Given the description of an element on the screen output the (x, y) to click on. 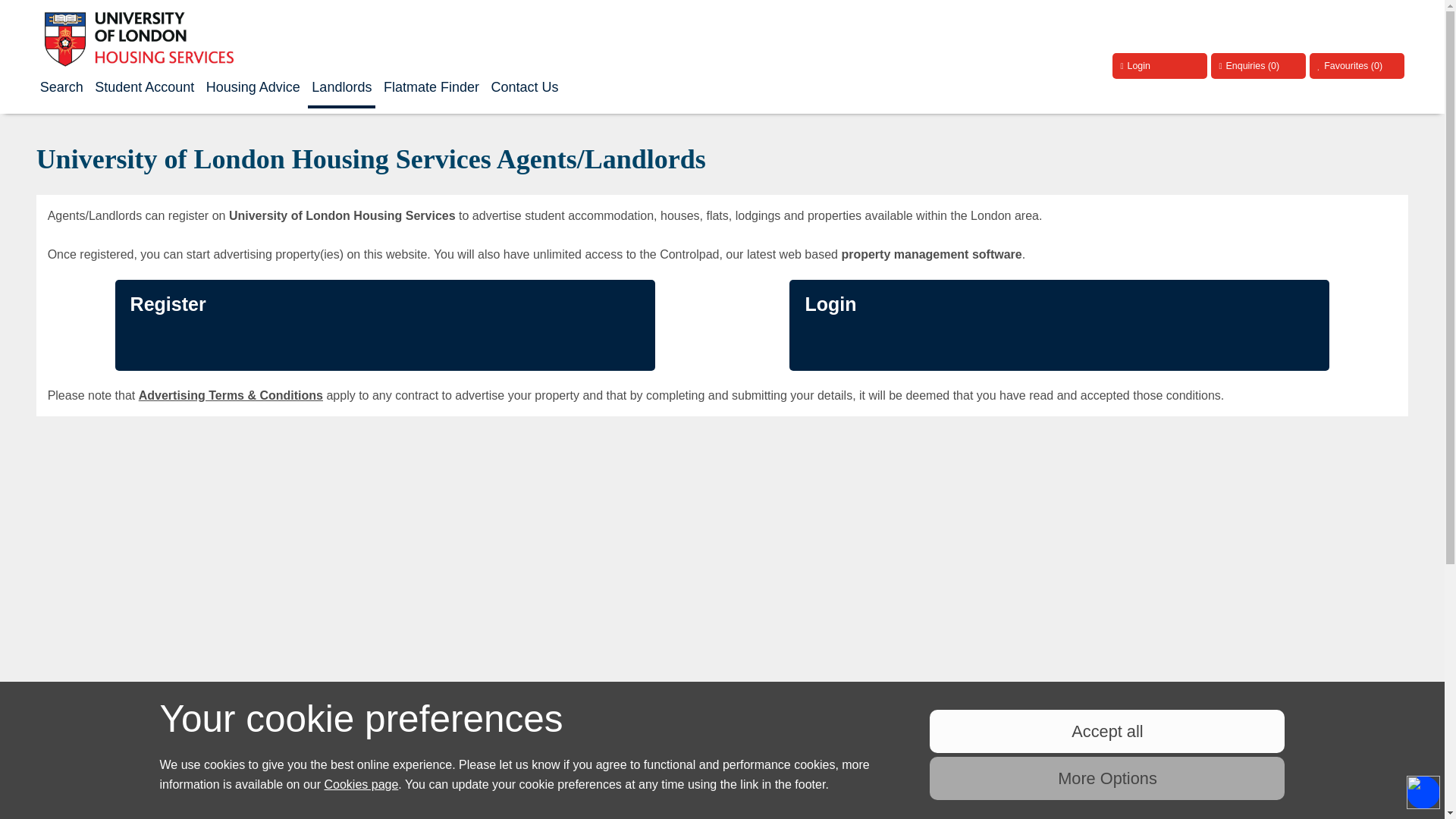
Cookies page (361, 784)
Follow us on Instagram (1386, 724)
Contact Us (524, 87)
Follow us on Facebook (1255, 724)
Search (61, 87)
Student Account (144, 87)
Landlords (341, 88)
Housing Advice (253, 87)
Flatmate Finder (431, 87)
Accept all (1107, 731)
Accessibility Menu (1422, 792)
More Options (1107, 778)
Login (1159, 65)
